Given the description of an element on the screen output the (x, y) to click on. 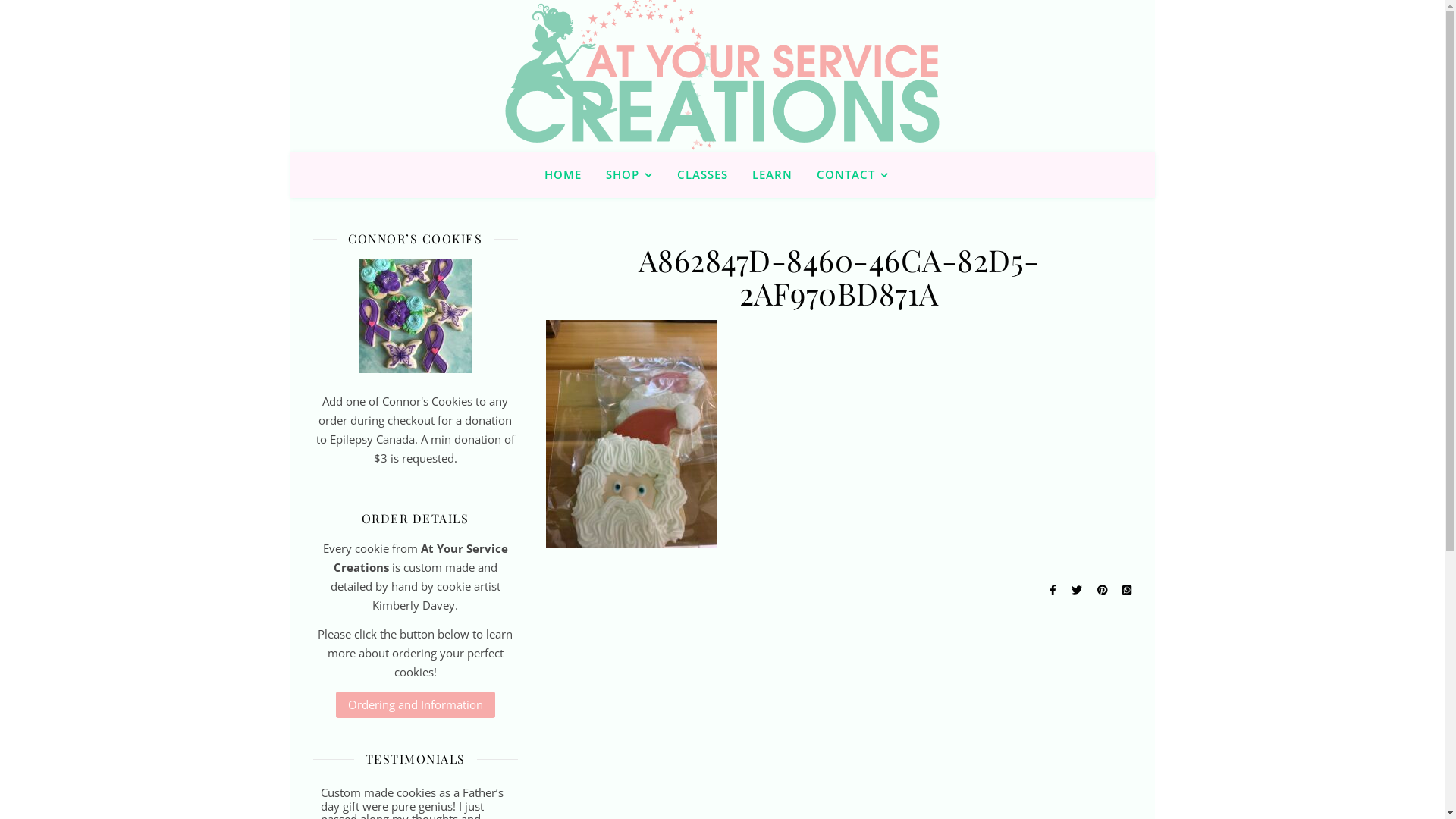
Ordering and Information Element type: text (414, 704)
SHOP Element type: text (628, 174)
LEARN Element type: text (772, 174)
HOME Element type: text (568, 174)
At Your Service Creations Element type: hover (721, 97)
CONTACT Element type: text (851, 174)
At Your Service Creations Element type: hover (721, 75)
CLASSES Element type: text (701, 174)
